Given the description of an element on the screen output the (x, y) to click on. 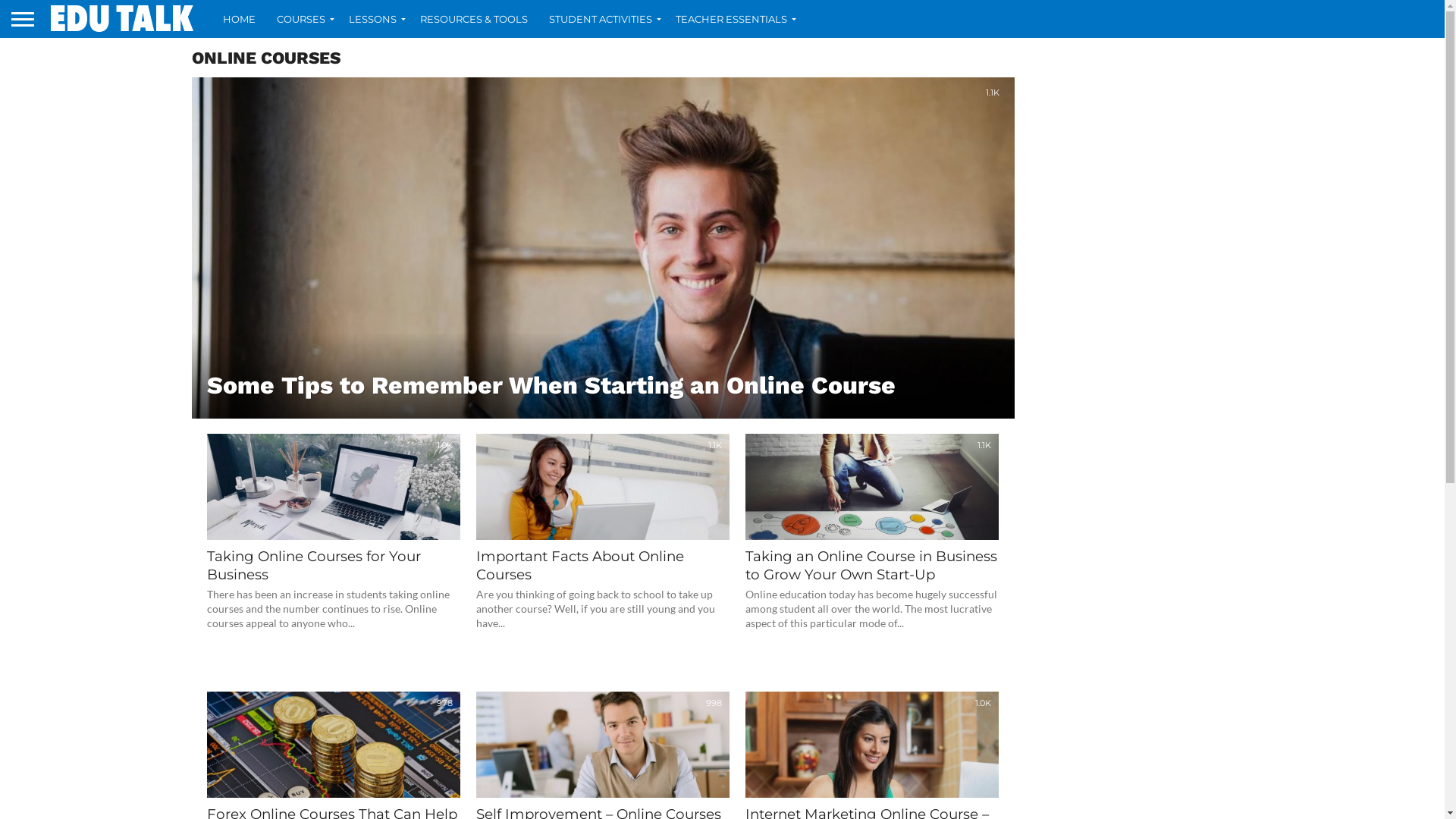
COURSES Element type: text (302, 18)
STUDENT ACTIVITIES Element type: text (601, 18)
RESOURCES & TOOLS Element type: text (473, 18)
LESSONS Element type: text (373, 18)
HOME Element type: text (239, 18)
TEACHER ESSENTIALS Element type: text (732, 18)
